Given the description of an element on the screen output the (x, y) to click on. 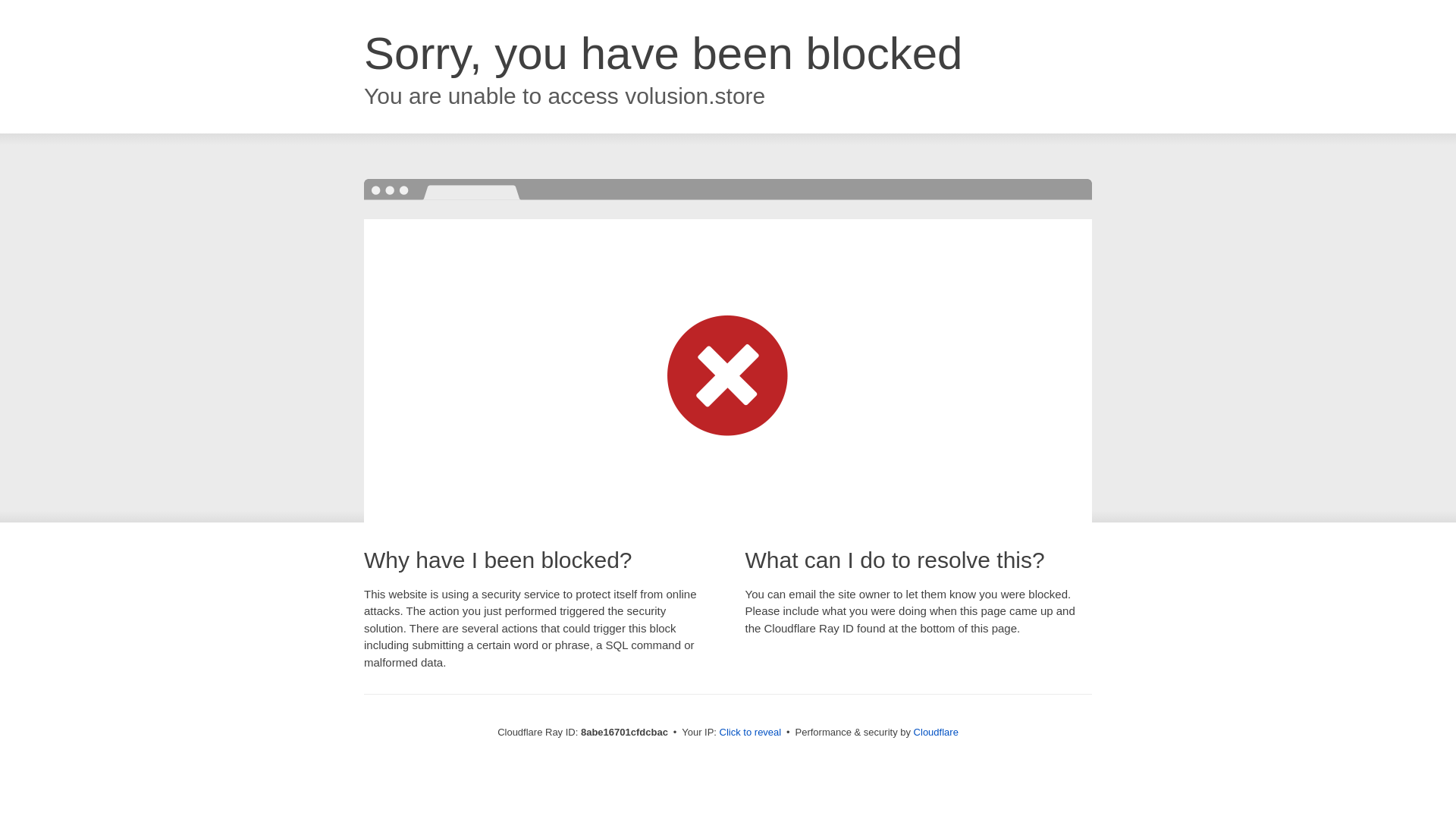
Click to reveal (750, 732)
Cloudflare (936, 731)
